Given the description of an element on the screen output the (x, y) to click on. 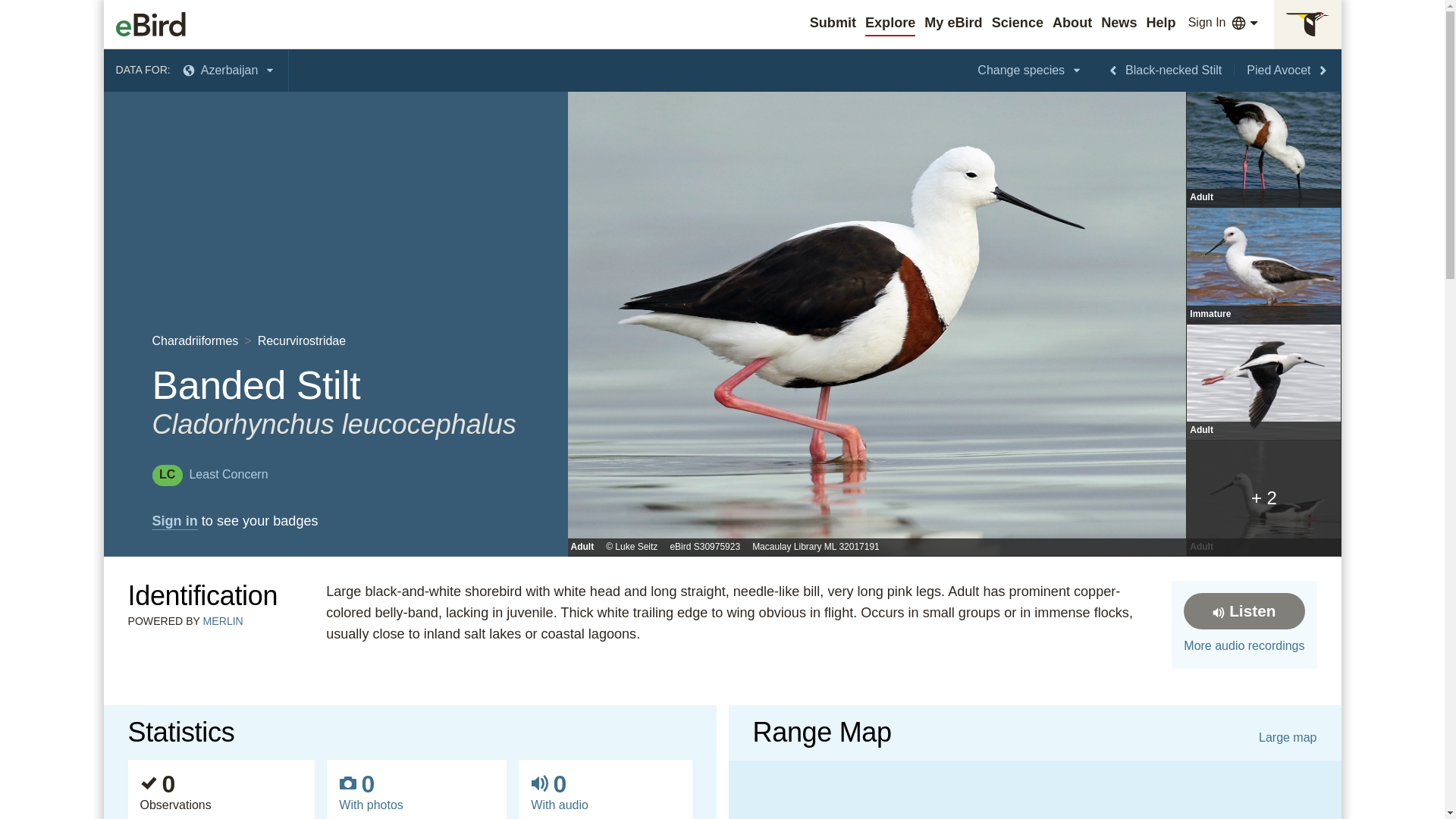
Submit (832, 23)
My eBird (952, 23)
Help (1159, 23)
Pied Avocet (1287, 70)
Explore (889, 23)
Change species (1029, 70)
News (1118, 23)
Azerbaijan (229, 70)
Science (1017, 23)
eBird S30975923 (704, 547)
About (1072, 23)
Macaulay Library ML 32017191 (815, 547)
Black-necked Stilt (1163, 70)
Sign In (1206, 23)
